Given the description of an element on the screen output the (x, y) to click on. 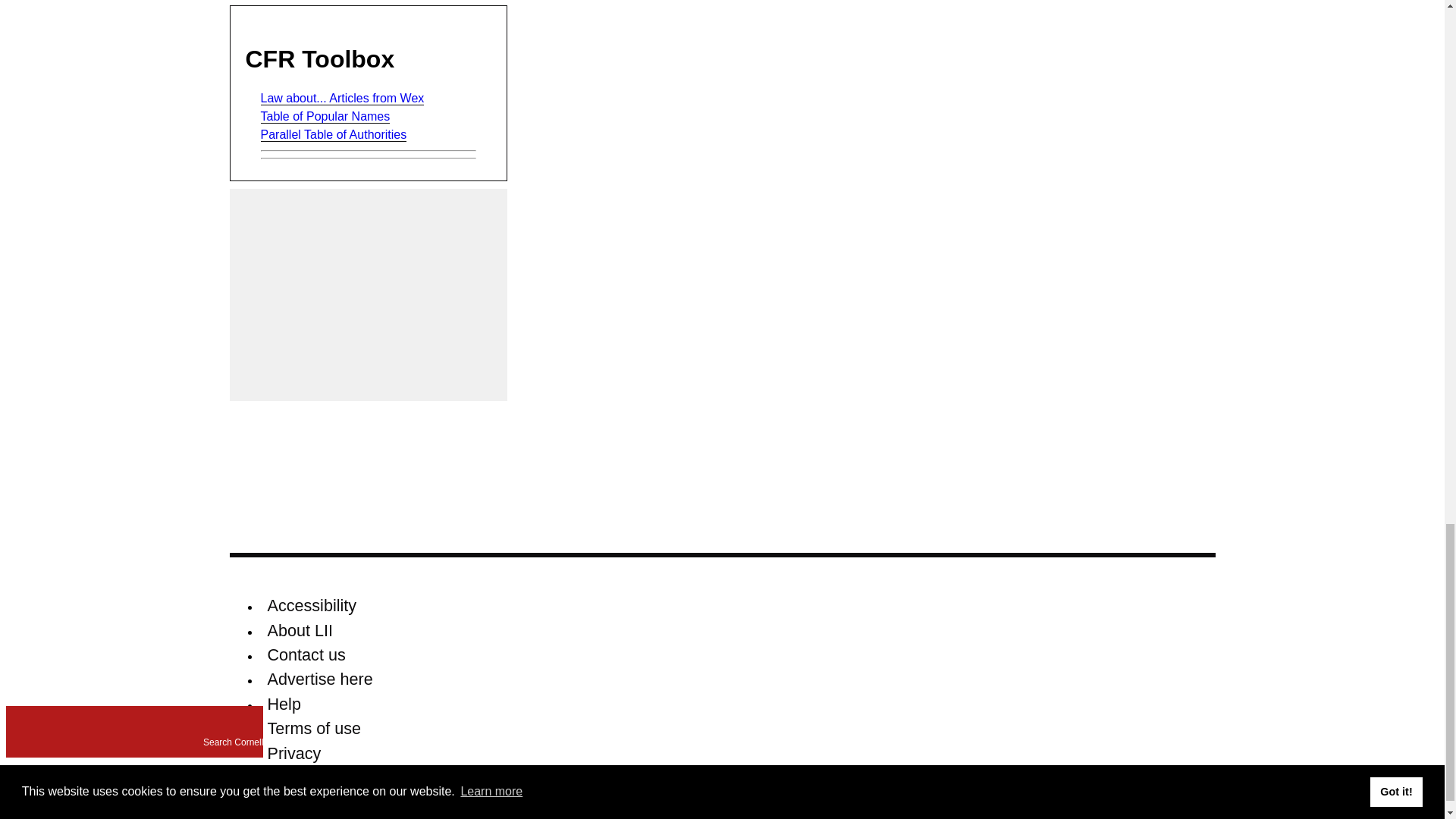
3rd party ad content (368, 295)
